Given the description of an element on the screen output the (x, y) to click on. 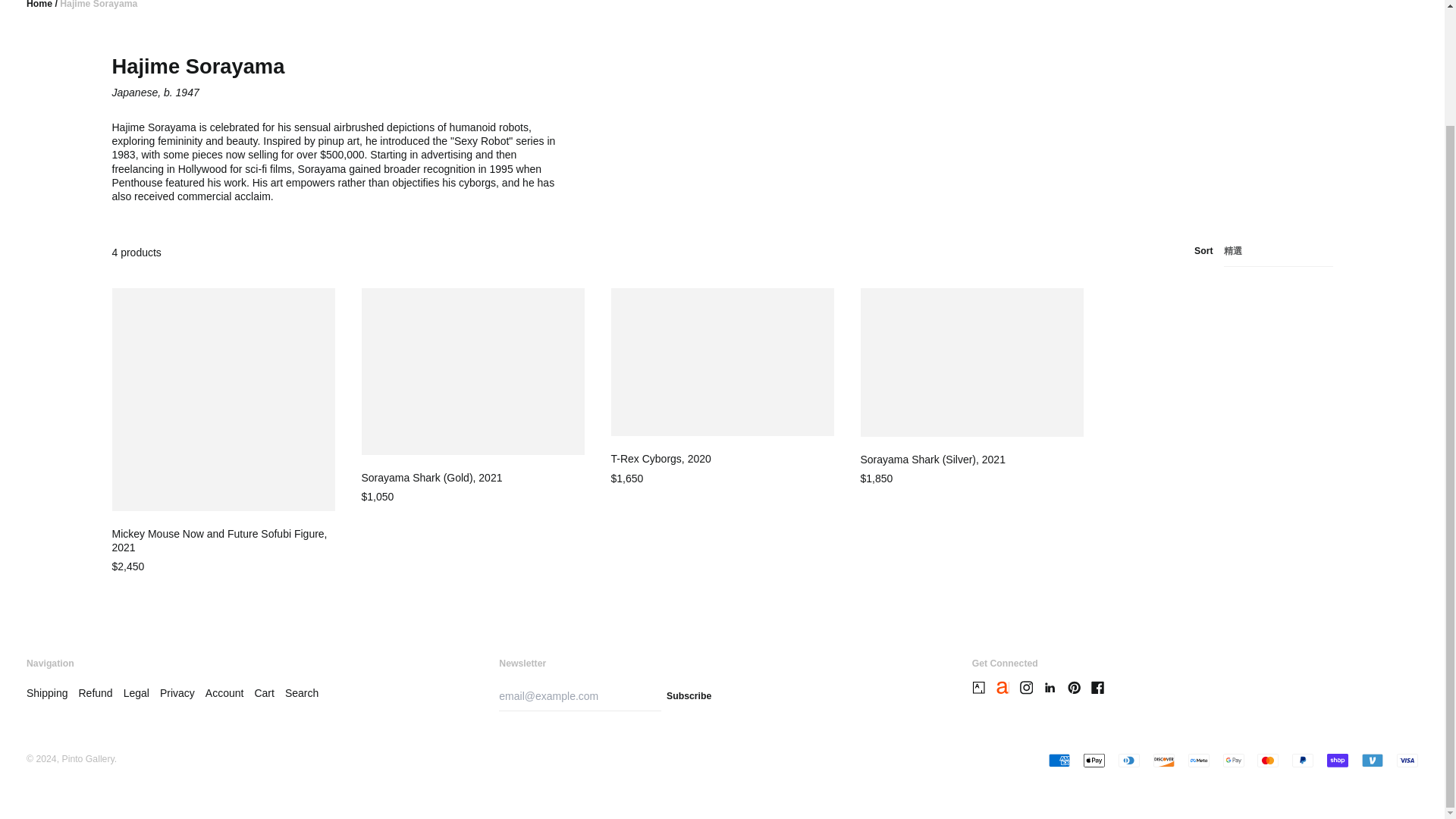
Home (39, 4)
